Given the description of an element on the screen output the (x, y) to click on. 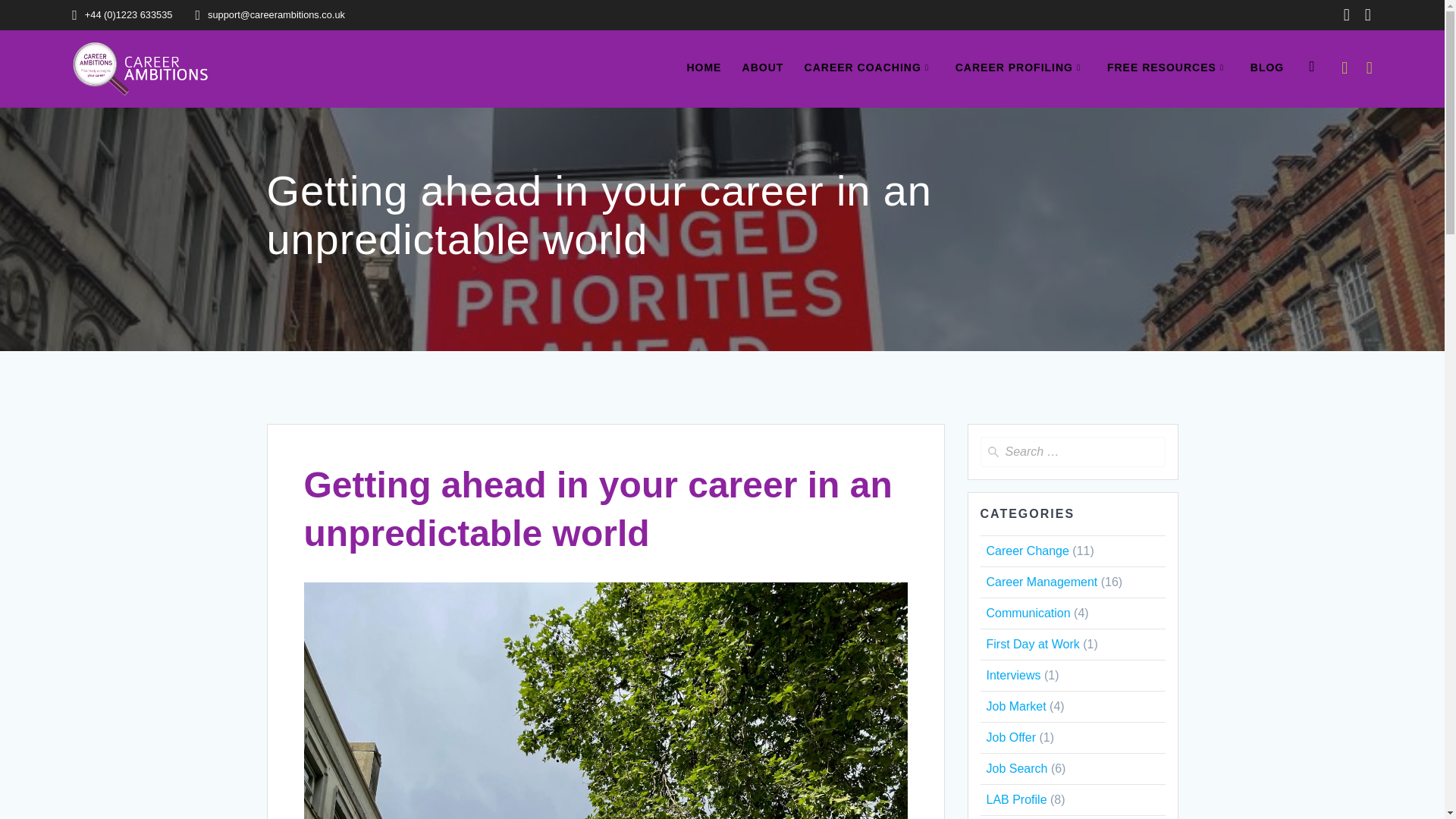
FREE RESOURCES (1168, 67)
HOME (702, 67)
CAREER COACHING (869, 67)
BLOG (1267, 67)
ABOUT (763, 67)
CAREER PROFILING (1020, 67)
